Given the description of an element on the screen output the (x, y) to click on. 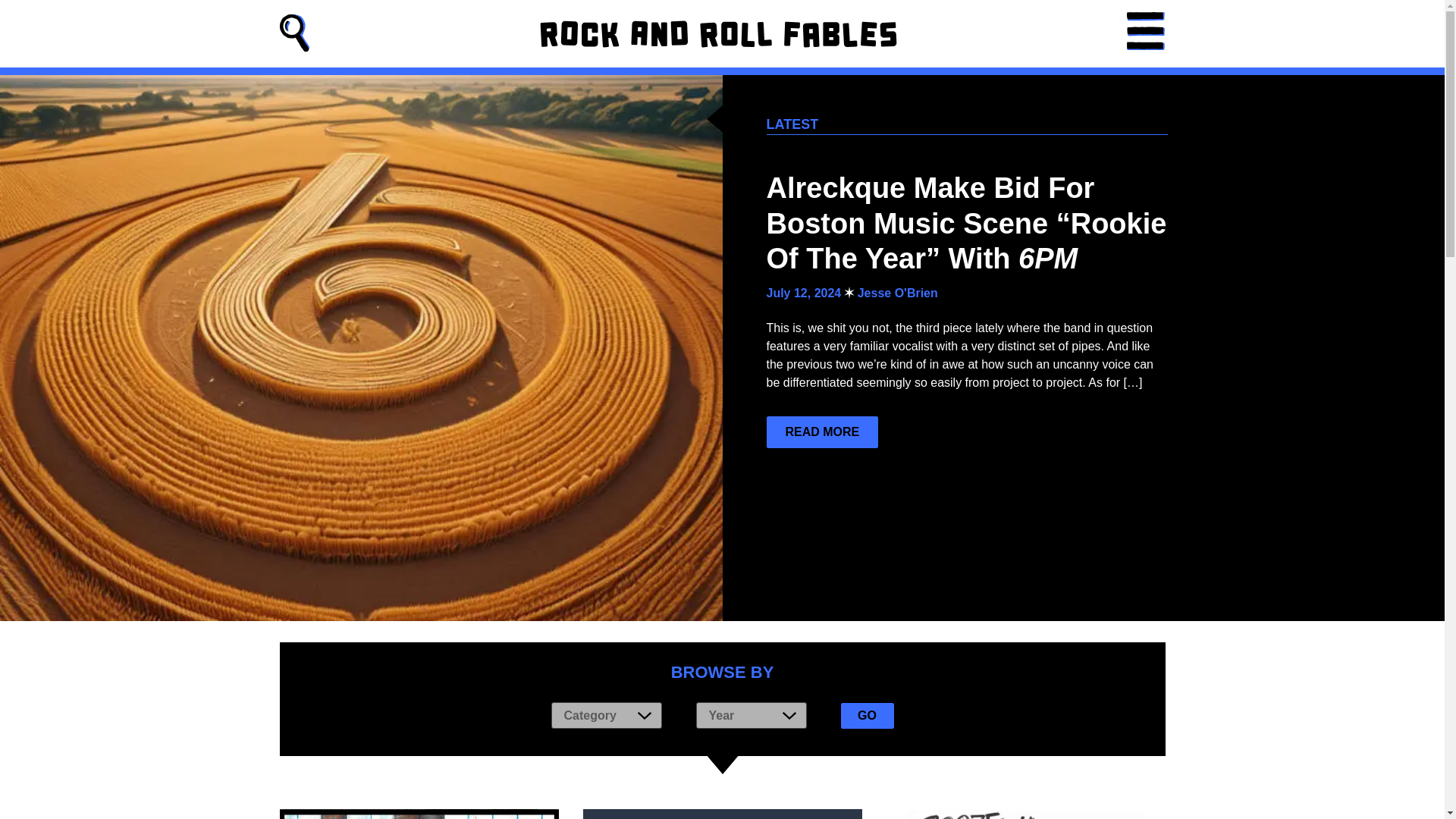
READ MORE (821, 431)
GO (866, 714)
